Given the description of an element on the screen output the (x, y) to click on. 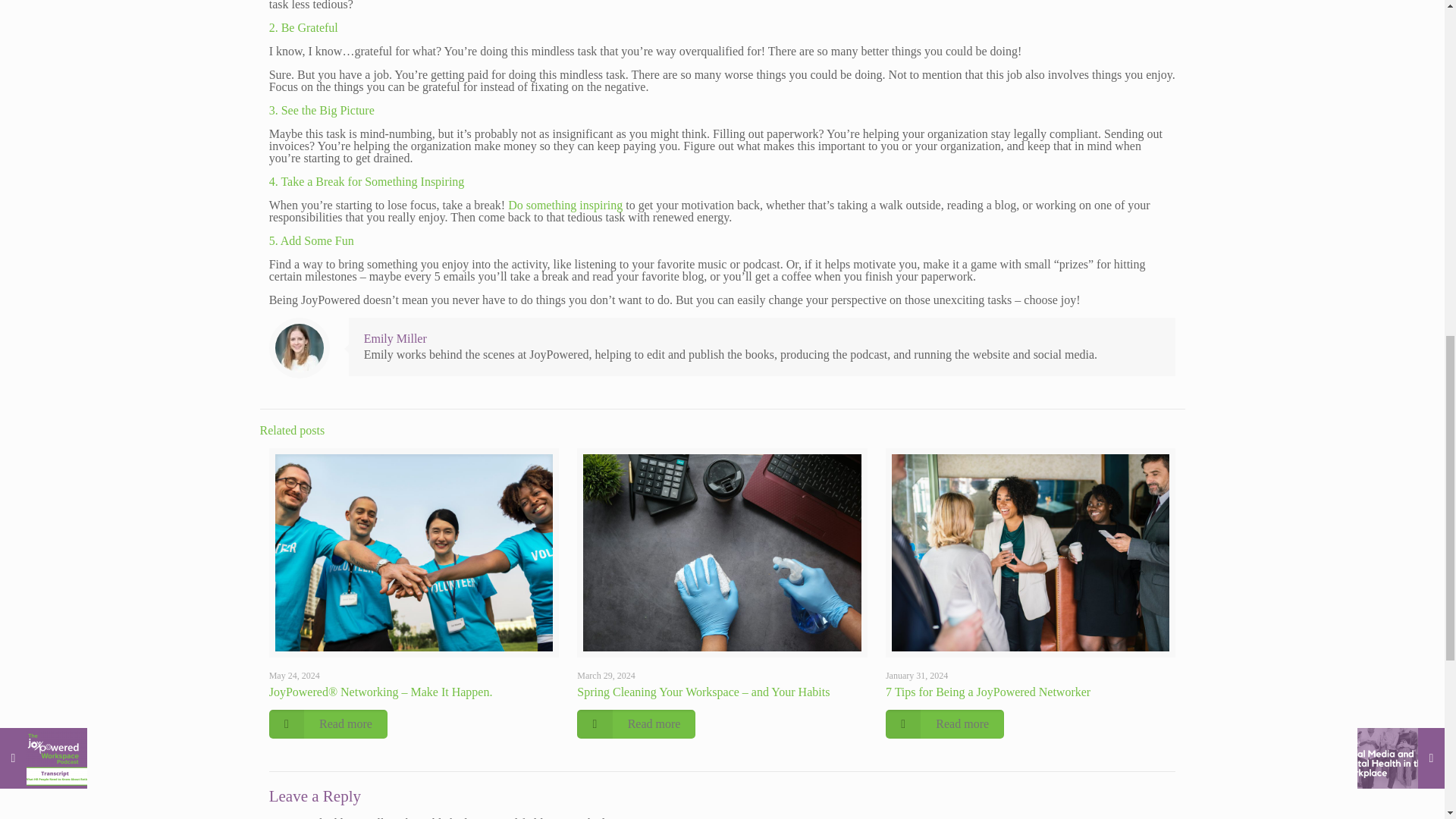
Do something inspiring (565, 205)
Emily Miller (395, 338)
